Given the description of an element on the screen output the (x, y) to click on. 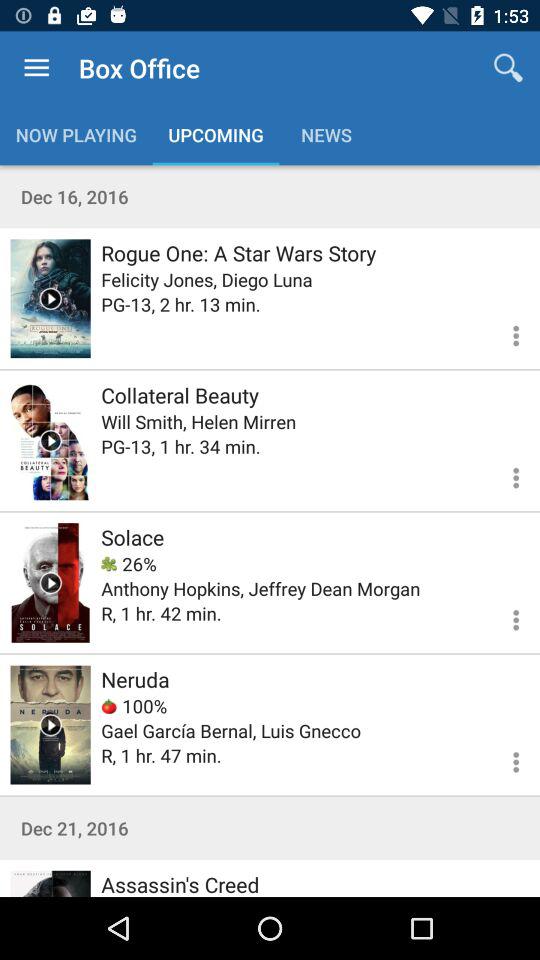
play rogue one movie (50, 298)
